Given the description of an element on the screen output the (x, y) to click on. 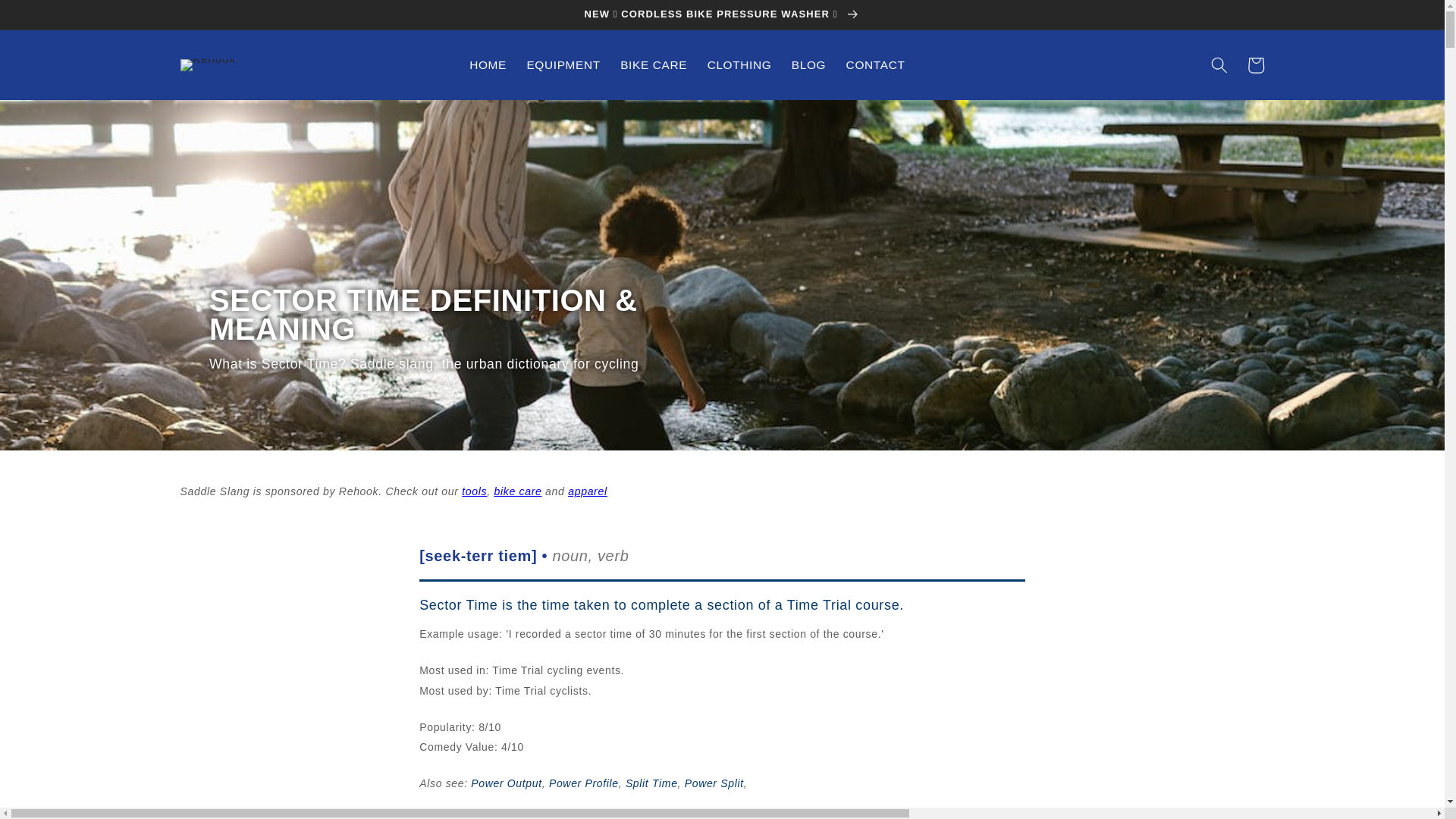
EQUIPMENT (563, 64)
Cycling Apparel (587, 491)
Power Profile (583, 783)
Revive Your Ride with Premium Bike Care Kits (517, 491)
bike care (517, 491)
CONTACT (874, 64)
apparel (587, 491)
BLOG (808, 64)
Skip to content (50, 19)
Cycling Equipment (473, 491)
Power Split (714, 783)
CLOTHING (738, 64)
Split Time (652, 783)
HOME (488, 64)
tools (473, 491)
